Given the description of an element on the screen output the (x, y) to click on. 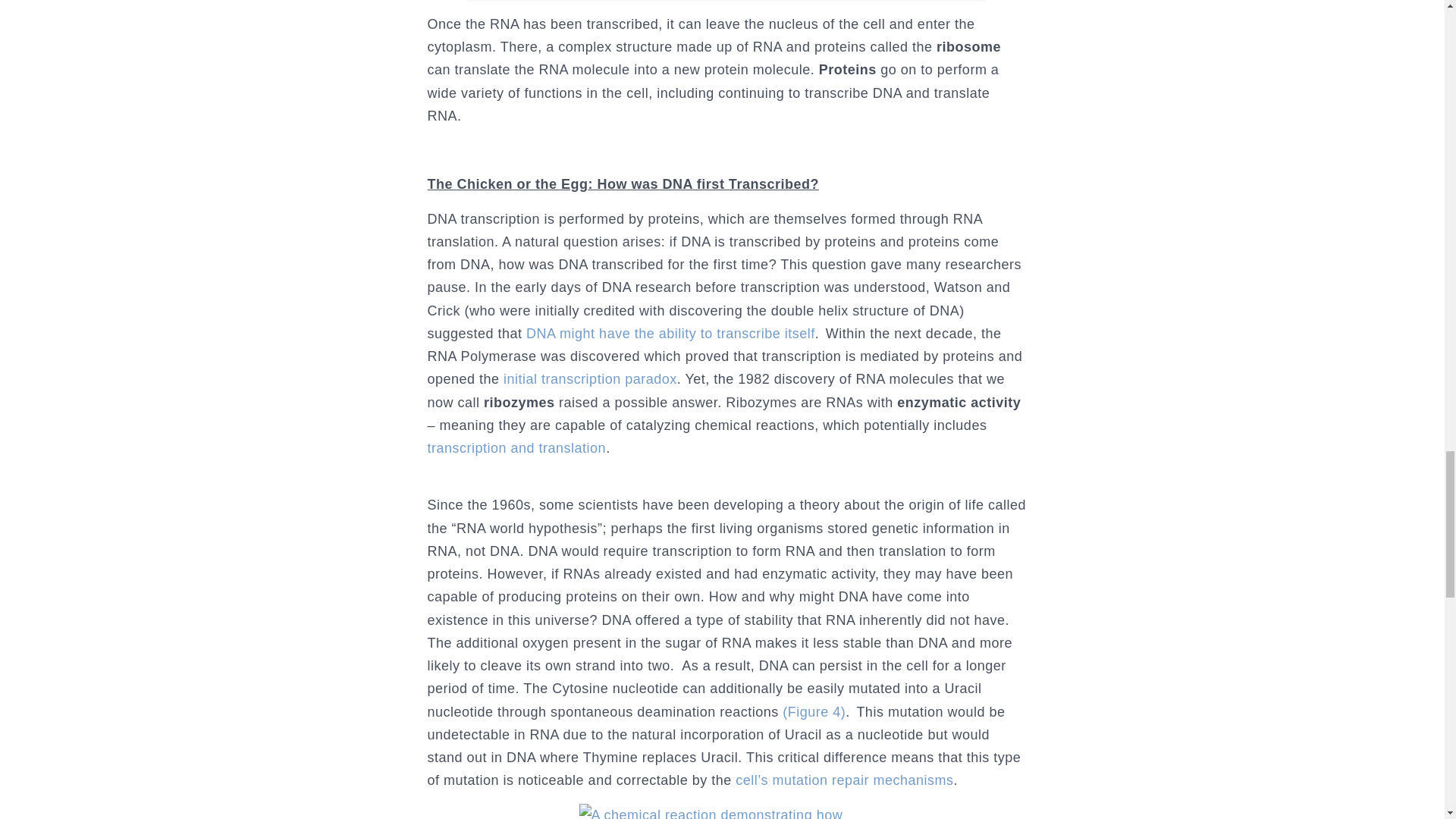
initial transcription paradox (590, 378)
DNA might have the ability to transcribe itself (670, 333)
transcription and translation (517, 447)
